Given the description of an element on the screen output the (x, y) to click on. 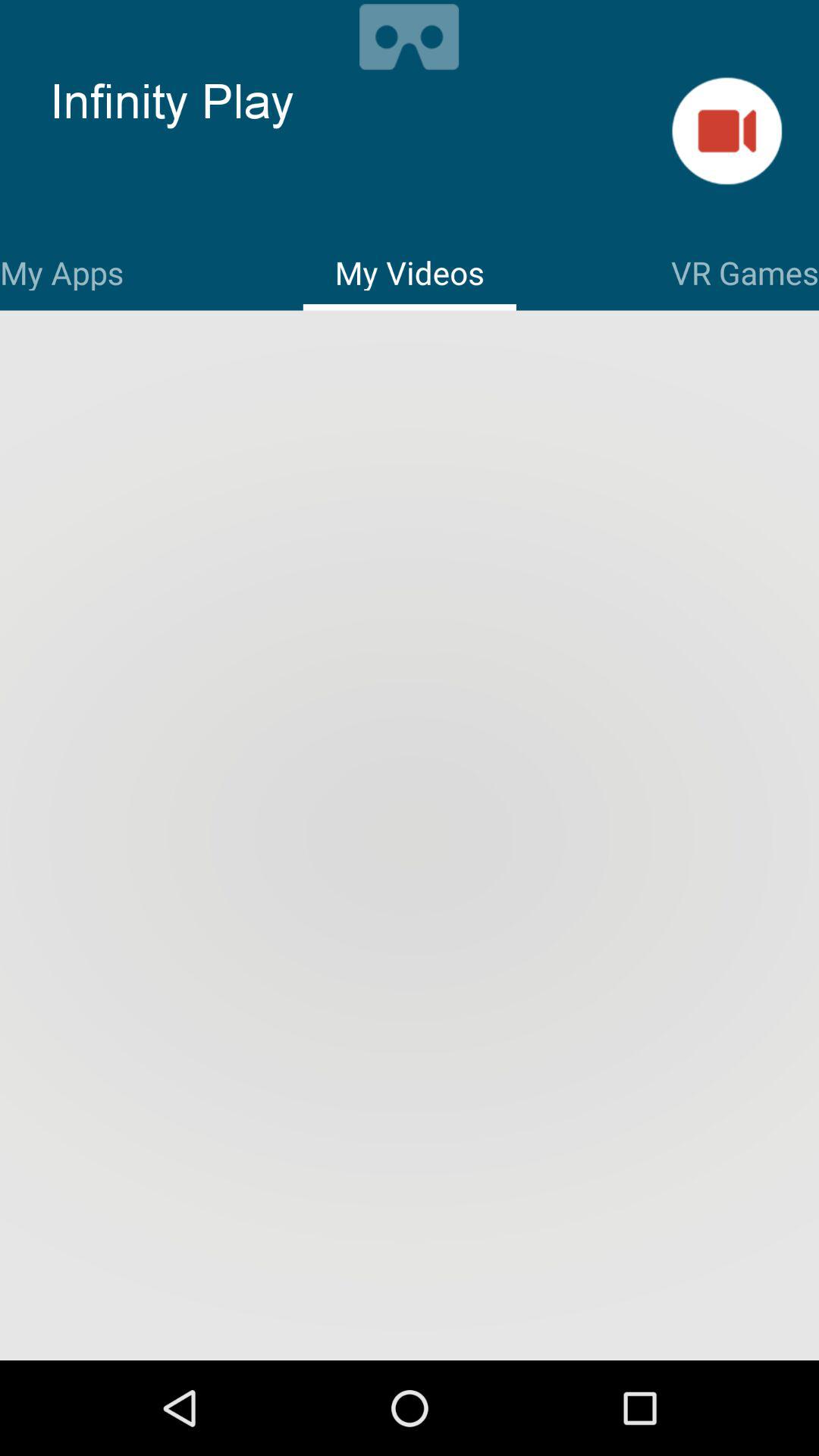
vr options (408, 34)
